Given the description of an element on the screen output the (x, y) to click on. 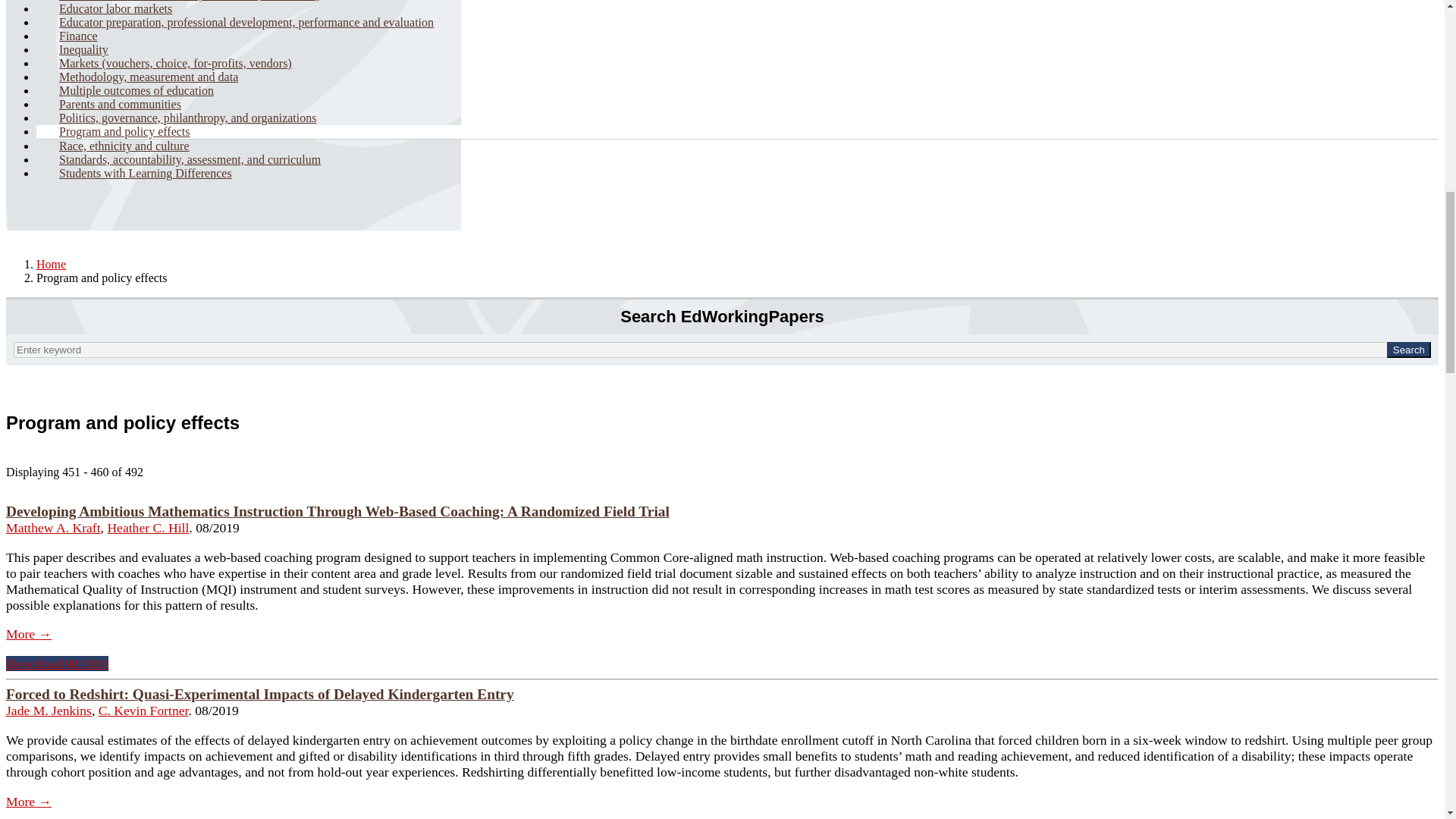
Race, ethnicity and culture (123, 145)
Politics, governance, philanthropy, and organizations (187, 117)
Search (1409, 349)
Inequality (83, 49)
Jade M. Jenkins (48, 710)
C. Kevin Fortner (144, 710)
Heather C. Hill (147, 527)
Multiple outcomes of education (135, 90)
Open file in new window (56, 663)
Students with Learning Differences (145, 172)
Standards, accountability, assessment, and curriculum (189, 159)
Program and policy effects (124, 131)
Home (50, 264)
